Given the description of an element on the screen output the (x, y) to click on. 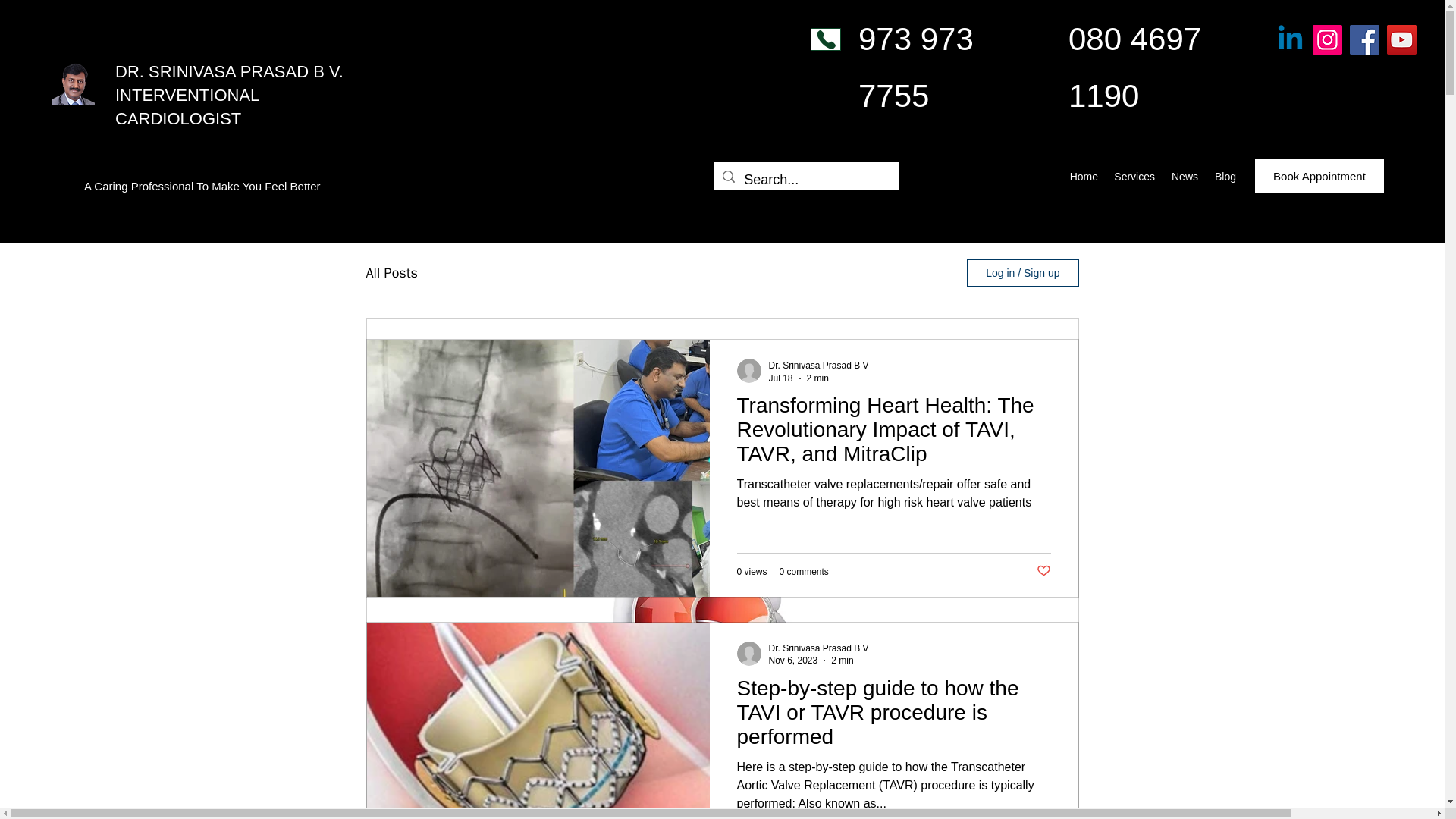
Jul 18 (780, 378)
Post not marked as liked (1042, 571)
973 973 7755 (916, 67)
2 min (842, 660)
0 comments (803, 571)
Home (1083, 176)
Nov 6, 2023 (793, 660)
Dr. Srinivasa Prasad B V (818, 365)
INTERVENTIONAL CARDIOLOGIST (187, 106)
